Given the description of an element on the screen output the (x, y) to click on. 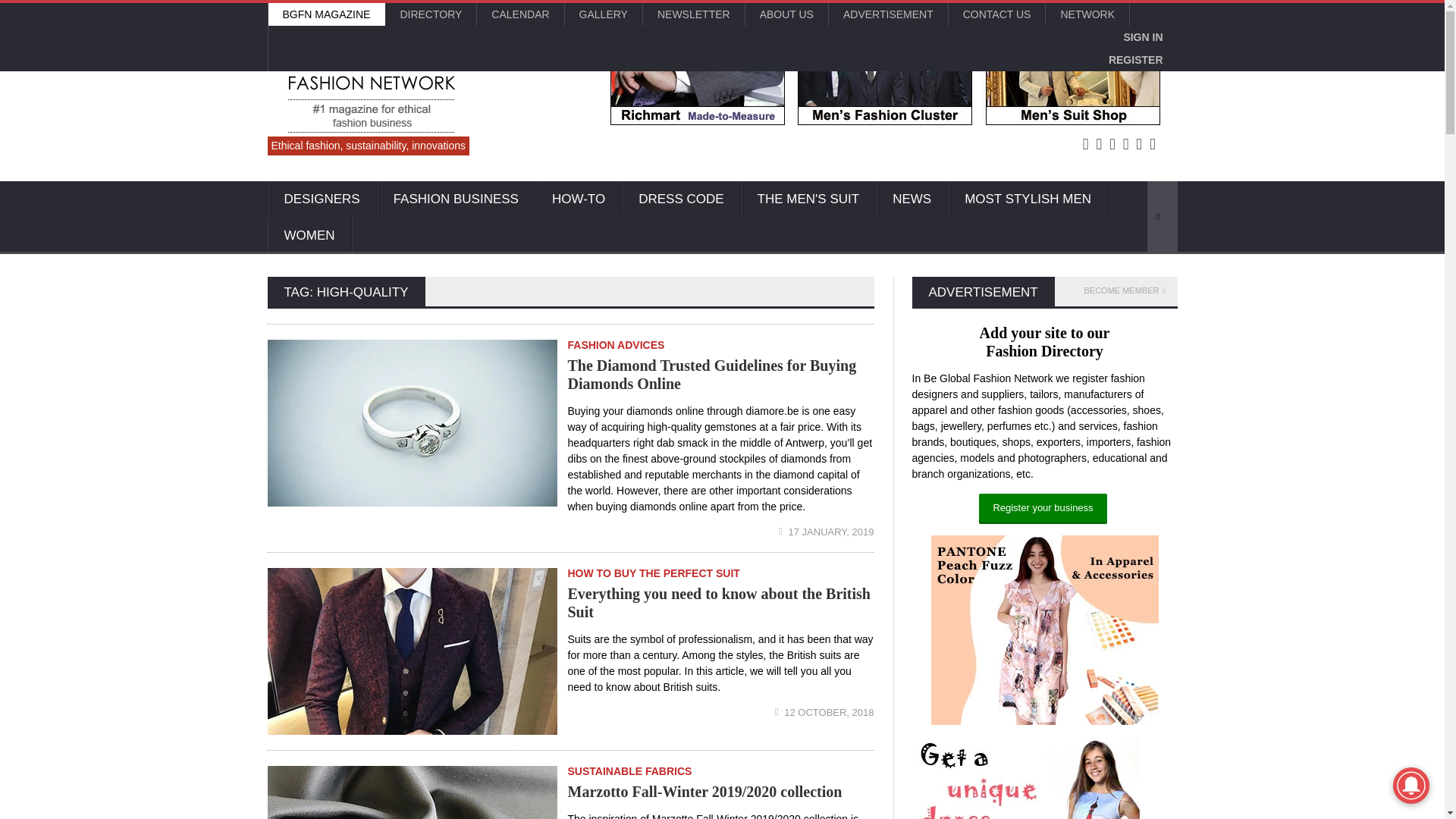
DIRECTORY (430, 14)
BGFN MAGAZINE (326, 14)
SIGN IN (1142, 36)
REGISTER (1135, 59)
ADVERTISEMENT (887, 14)
ABOUT US (786, 14)
NETWORK (1087, 14)
CALENDAR (520, 14)
NEWSLETTER (693, 14)
CONTACT US (997, 14)
DESIGNERS (320, 198)
GALLERY (603, 14)
